Given the description of an element on the screen output the (x, y) to click on. 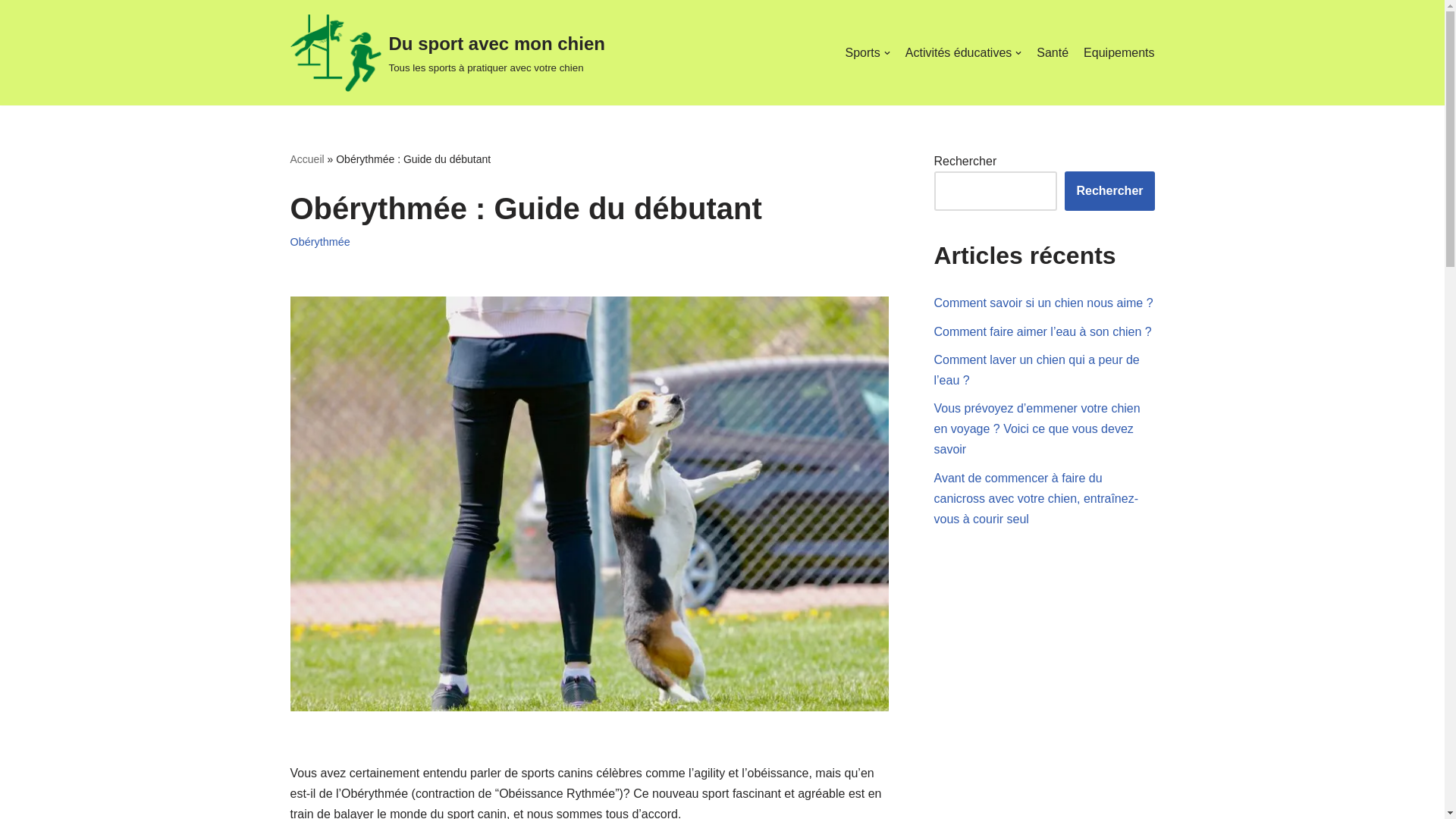
Comment savoir si un chien nous aime ? Element type: text (1043, 302)
Equipements Element type: text (1118, 52)
Rechercher Element type: text (1109, 190)
Sports Element type: text (867, 52)
Accueil Element type: text (306, 159)
Aller au contenu Element type: text (11, 31)
